Given the description of an element on the screen output the (x, y) to click on. 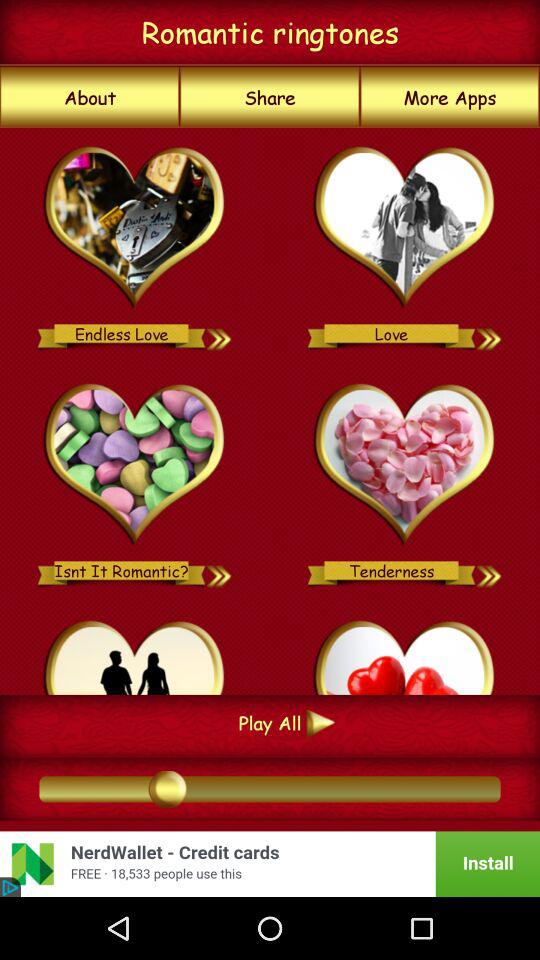
select this ringtone (134, 654)
